Given the description of an element on the screen output the (x, y) to click on. 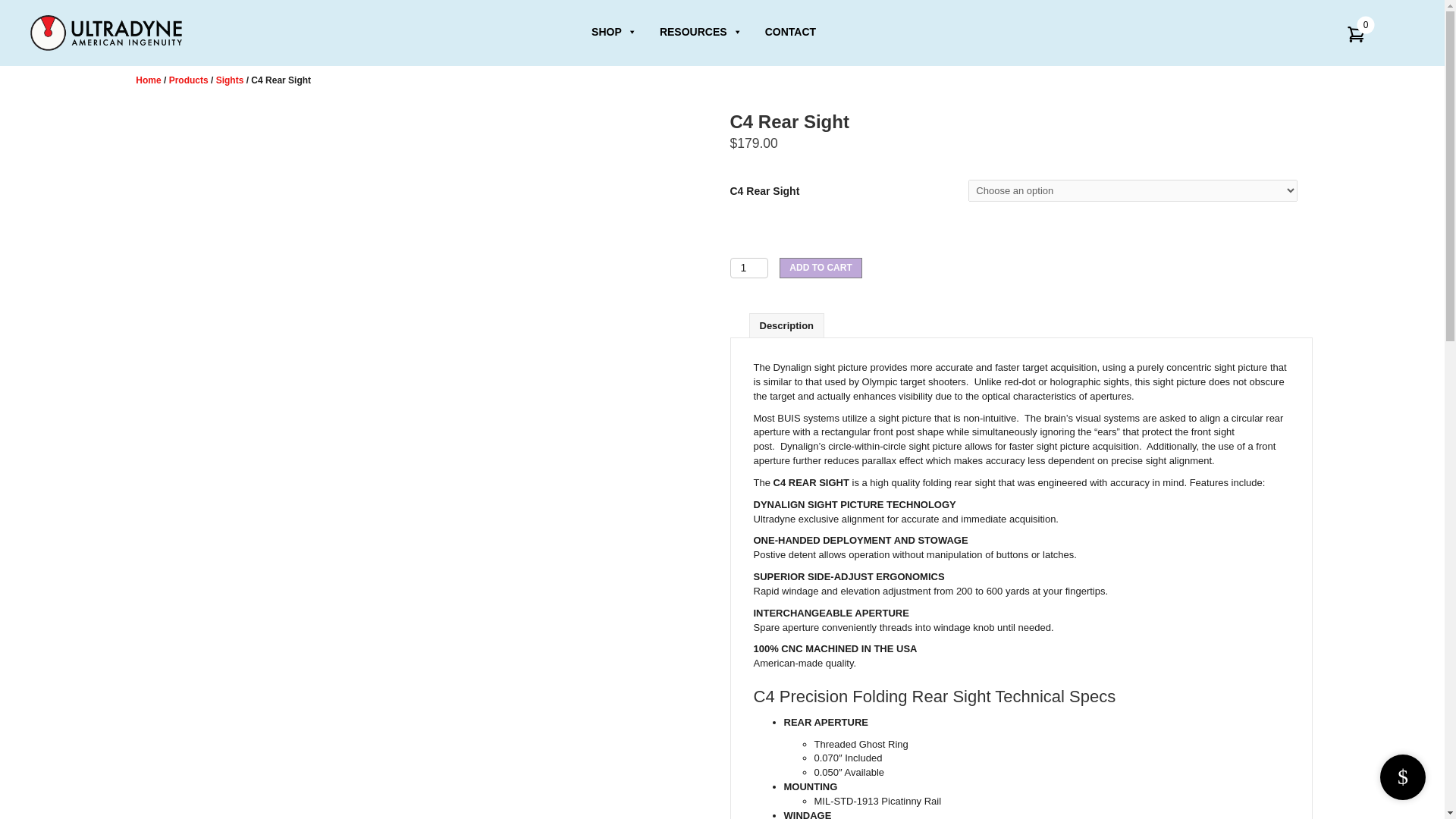
CONTACT (790, 31)
1 (748, 267)
SHOP (614, 31)
logo (106, 32)
RESOURCES (700, 31)
